Given the description of an element on the screen output the (x, y) to click on. 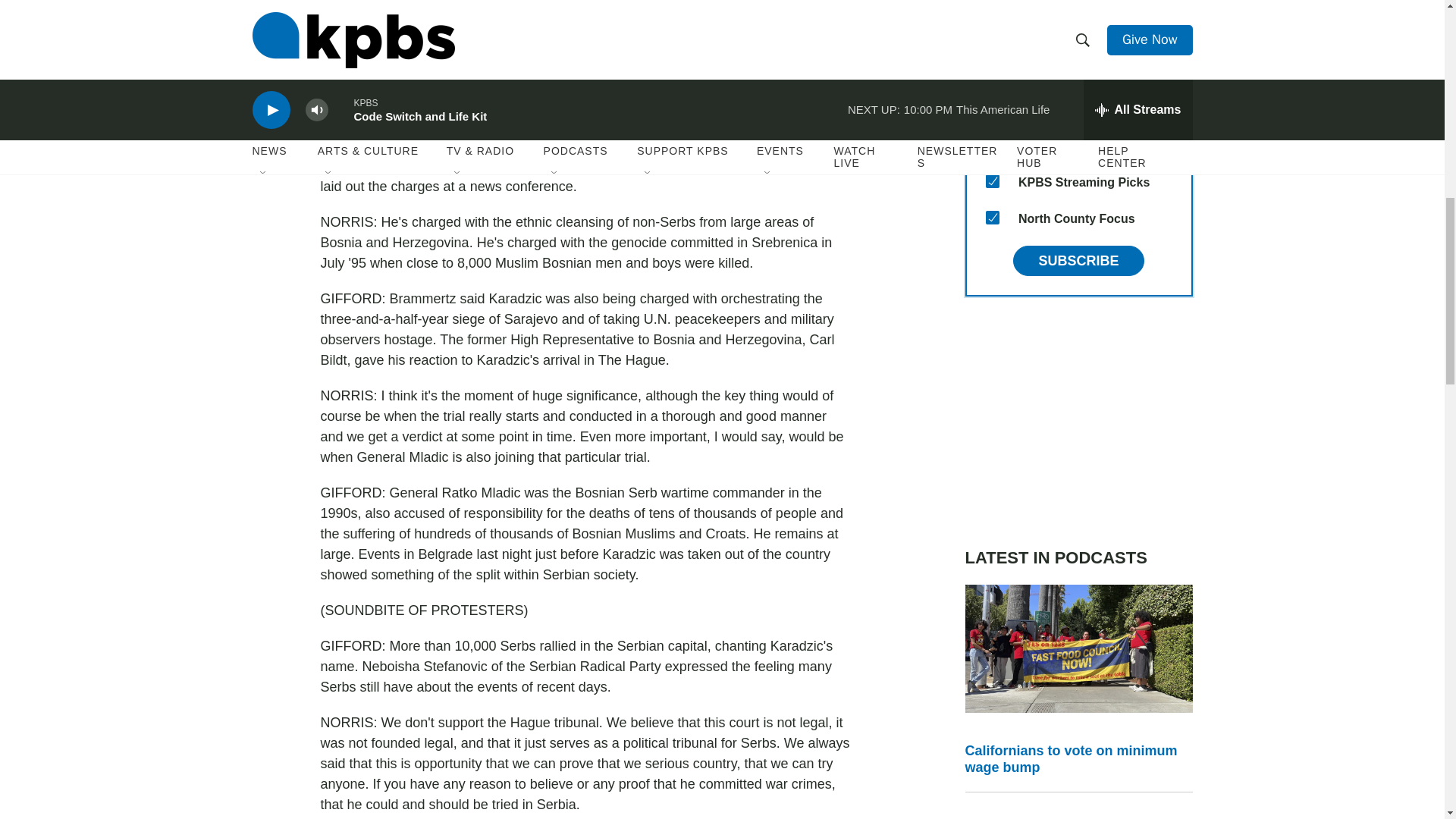
1 (991, 144)
4 (991, 2)
15 (991, 217)
8 (991, 181)
6 (991, 71)
2 (991, 108)
5 (991, 35)
